Given the description of an element on the screen output the (x, y) to click on. 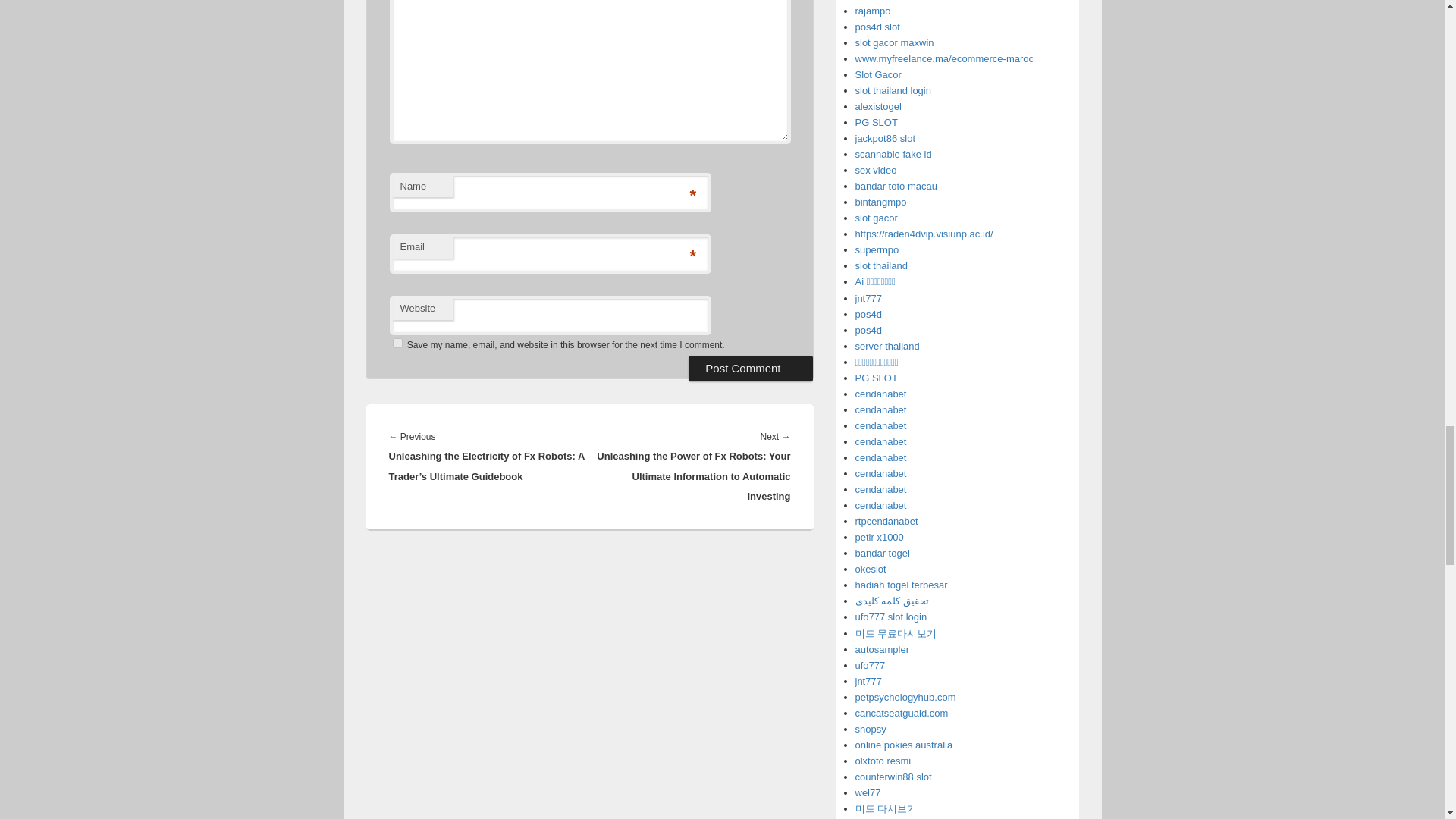
yes (398, 343)
Post Comment (750, 367)
Post Comment (750, 367)
